Given the description of an element on the screen output the (x, y) to click on. 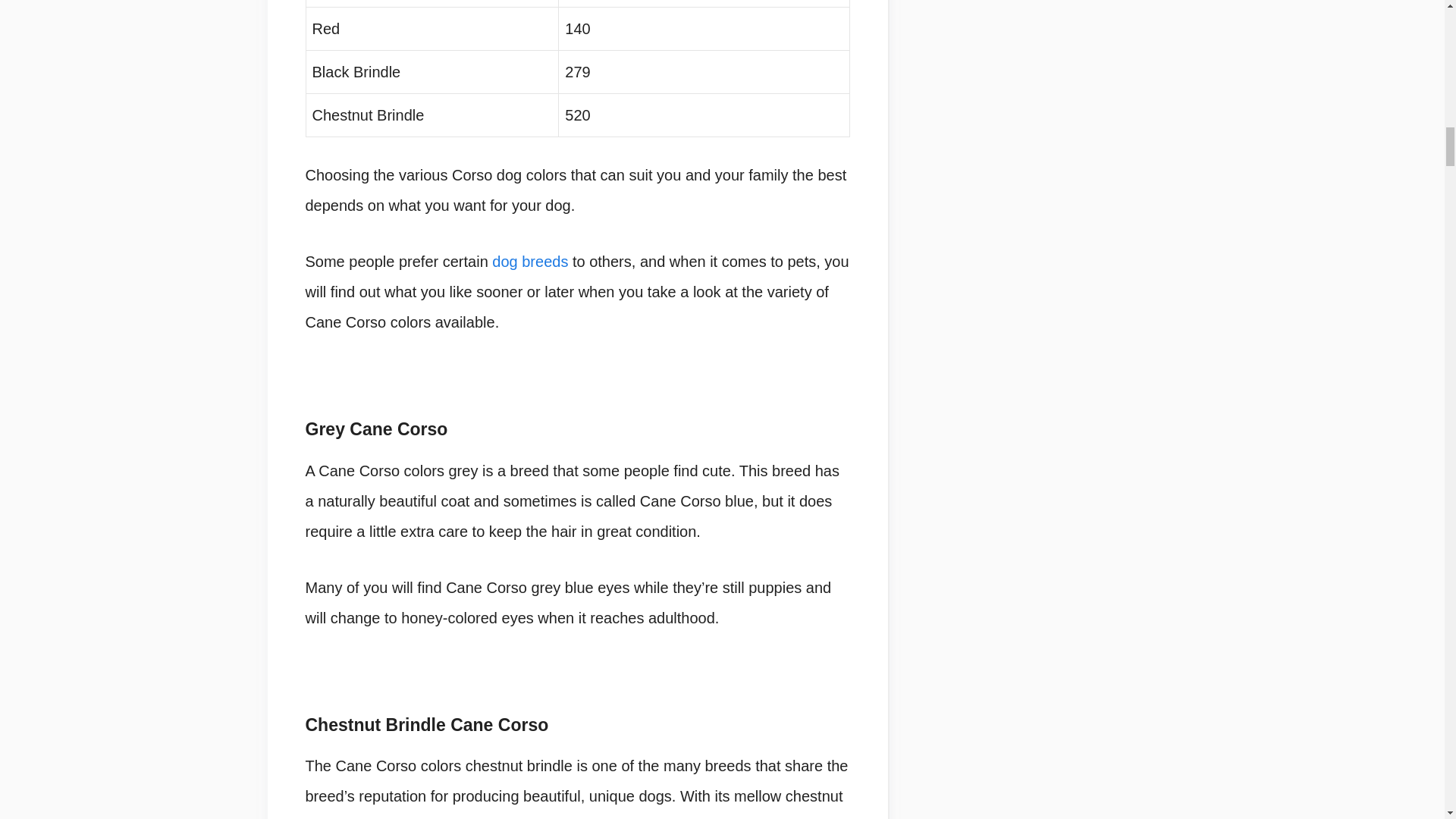
Dogs Born Without Tails : 5 Attractive Tailless Dog Breeds (529, 261)
